Given the description of an element on the screen output the (x, y) to click on. 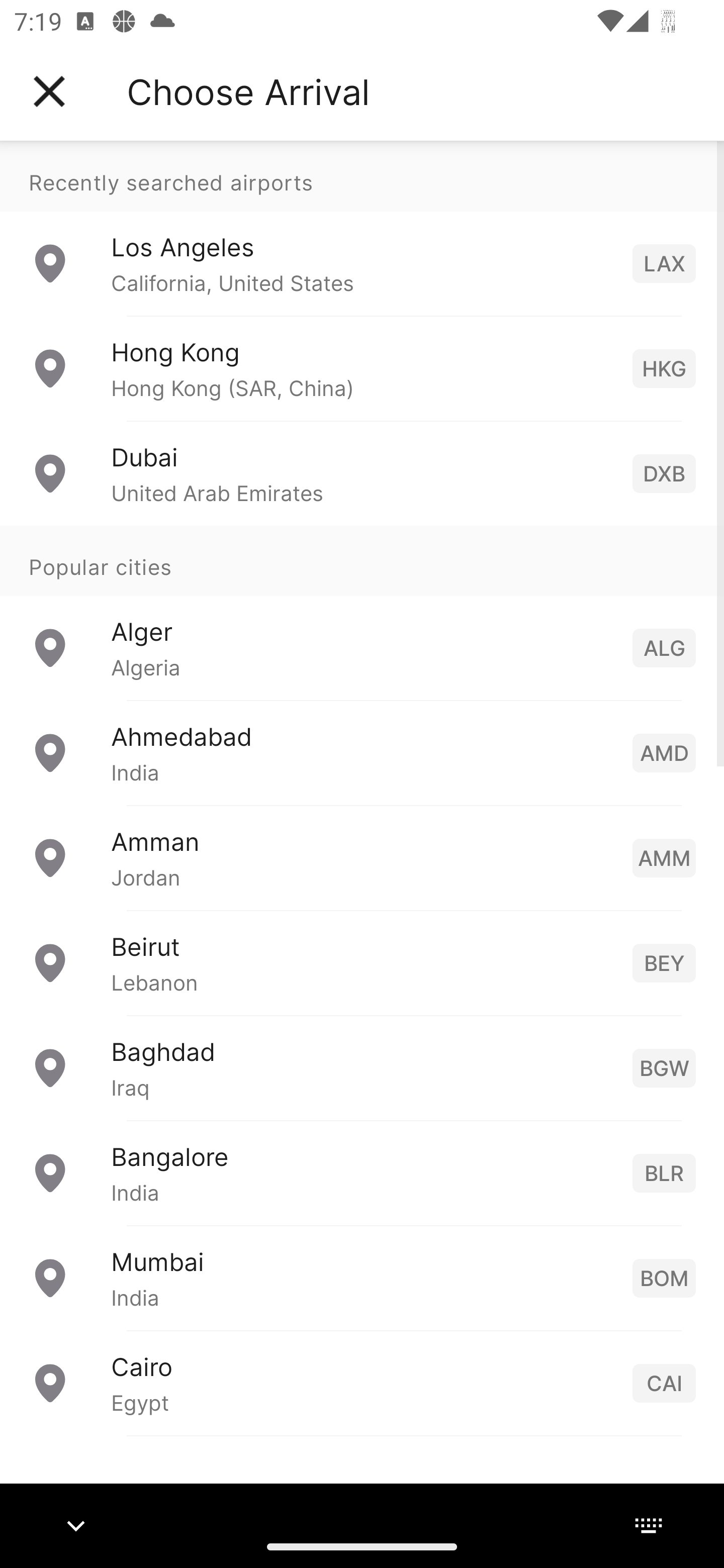
Choose Arrival (247, 91)
Recently searched airports (362, 176)
Hong Kong Hong Kong (SAR, China) HKG (362, 367)
Dubai United Arab Emirates DXB (362, 472)
Popular cities Alger Algeria ALG (362, 612)
Popular cities (362, 560)
Ahmedabad India AMD (362, 751)
Amman Jordan AMM (362, 856)
Beirut Lebanon BEY (362, 961)
Baghdad Iraq BGW (362, 1066)
Bangalore India BLR (362, 1171)
Mumbai India BOM (362, 1276)
Cairo Egypt CAI (362, 1381)
